Given the description of an element on the screen output the (x, y) to click on. 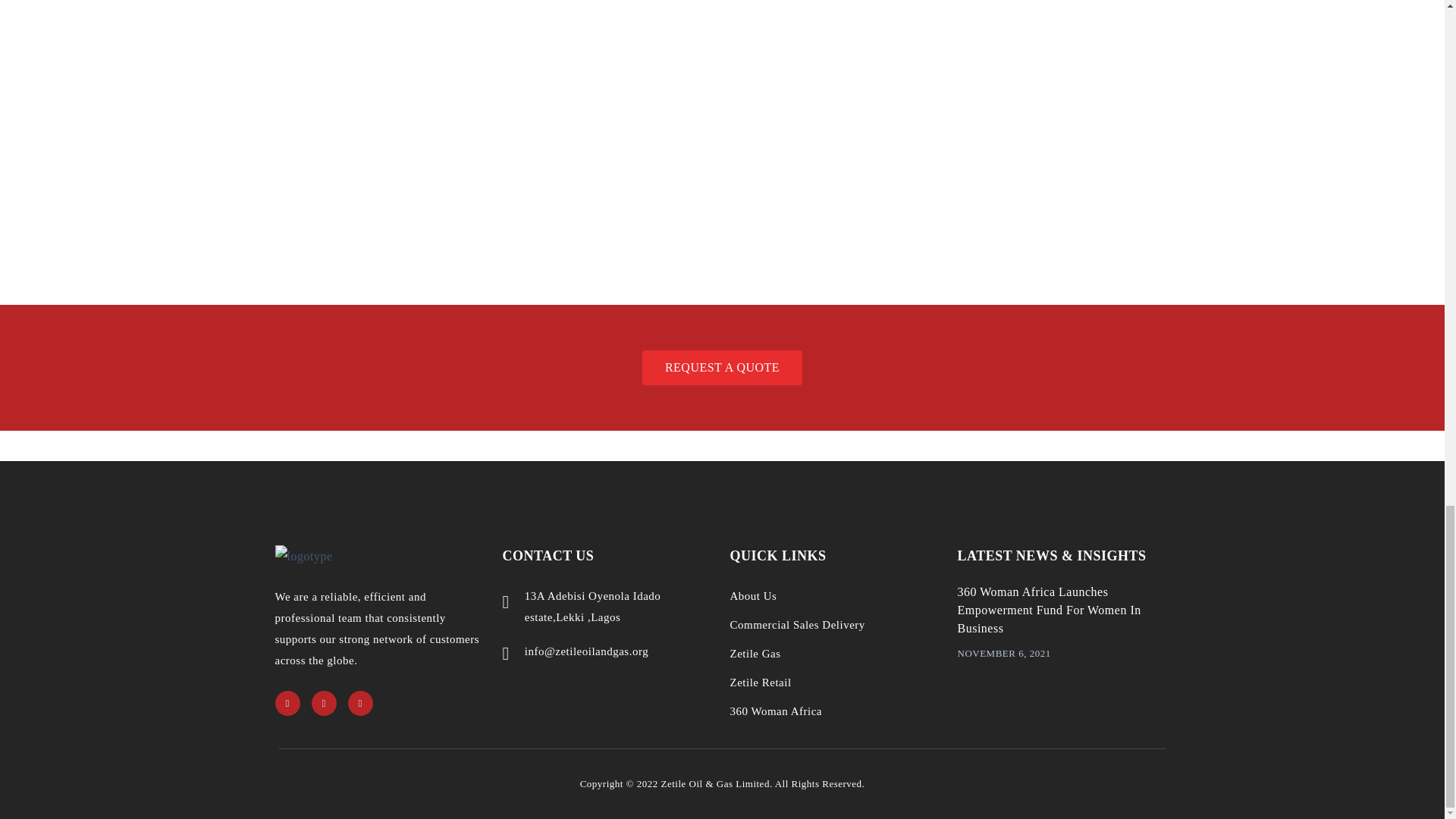
Facebook (359, 703)
Linkedin (287, 703)
Instagram (323, 703)
